Given the description of an element on the screen output the (x, y) to click on. 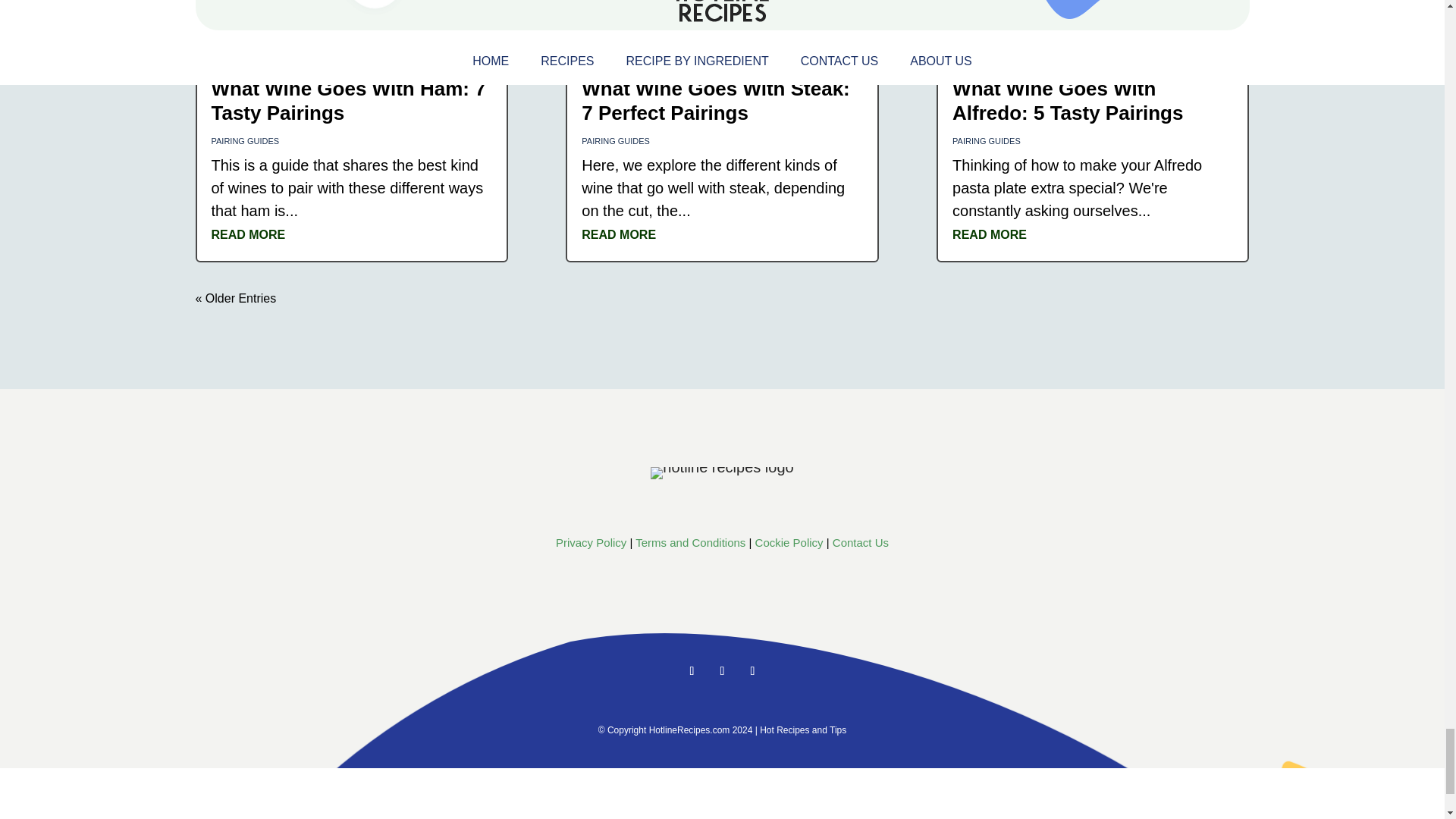
What Wine Goes With Ham: 7 Tasty Pairings (347, 99)
PAIRING GUIDES (245, 140)
READ MORE (248, 234)
